Given the description of an element on the screen output the (x, y) to click on. 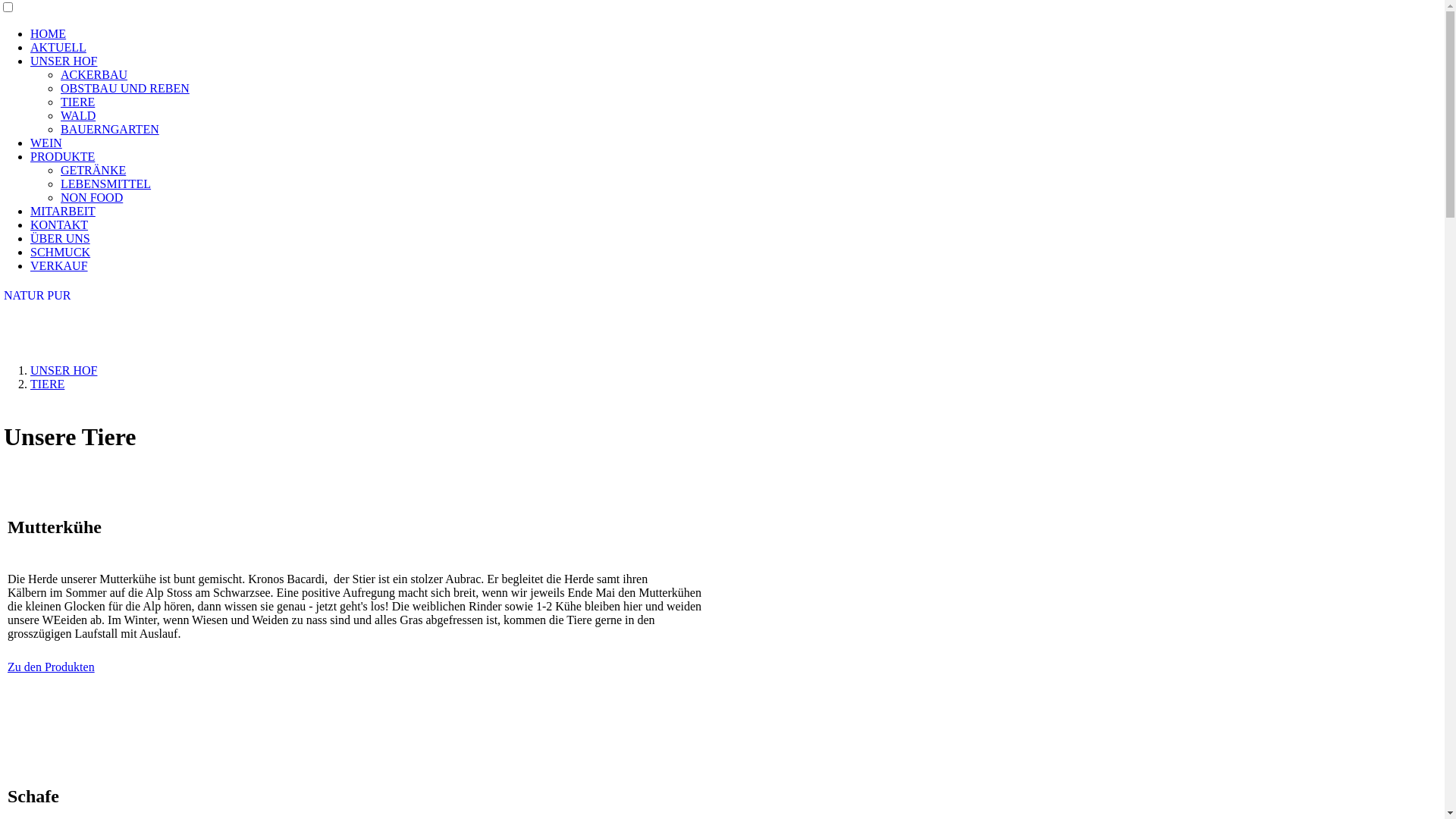
HOME Element type: text (47, 33)
OBSTBAU UND REBEN Element type: text (124, 87)
ACKERBAU Element type: text (93, 74)
VERKAUF Element type: text (58, 265)
TIERE Element type: text (77, 101)
MITARBEIT Element type: text (62, 210)
NATUR PUR Element type: text (36, 294)
PRODUKTE Element type: text (62, 156)
BAUERNGARTEN Element type: text (109, 128)
AKTUELL Element type: text (58, 46)
TIERE Element type: text (47, 383)
UNSER HOF Element type: text (63, 60)
Zu den Produkten Element type: text (50, 666)
KONTAKT Element type: text (58, 224)
WALD Element type: text (77, 115)
SCHMUCK Element type: text (60, 251)
LEBENSMITTEL Element type: text (105, 183)
UNSER HOF Element type: text (63, 370)
NON FOOD Element type: text (91, 197)
WEIN Element type: text (46, 142)
